Given the description of an element on the screen output the (x, y) to click on. 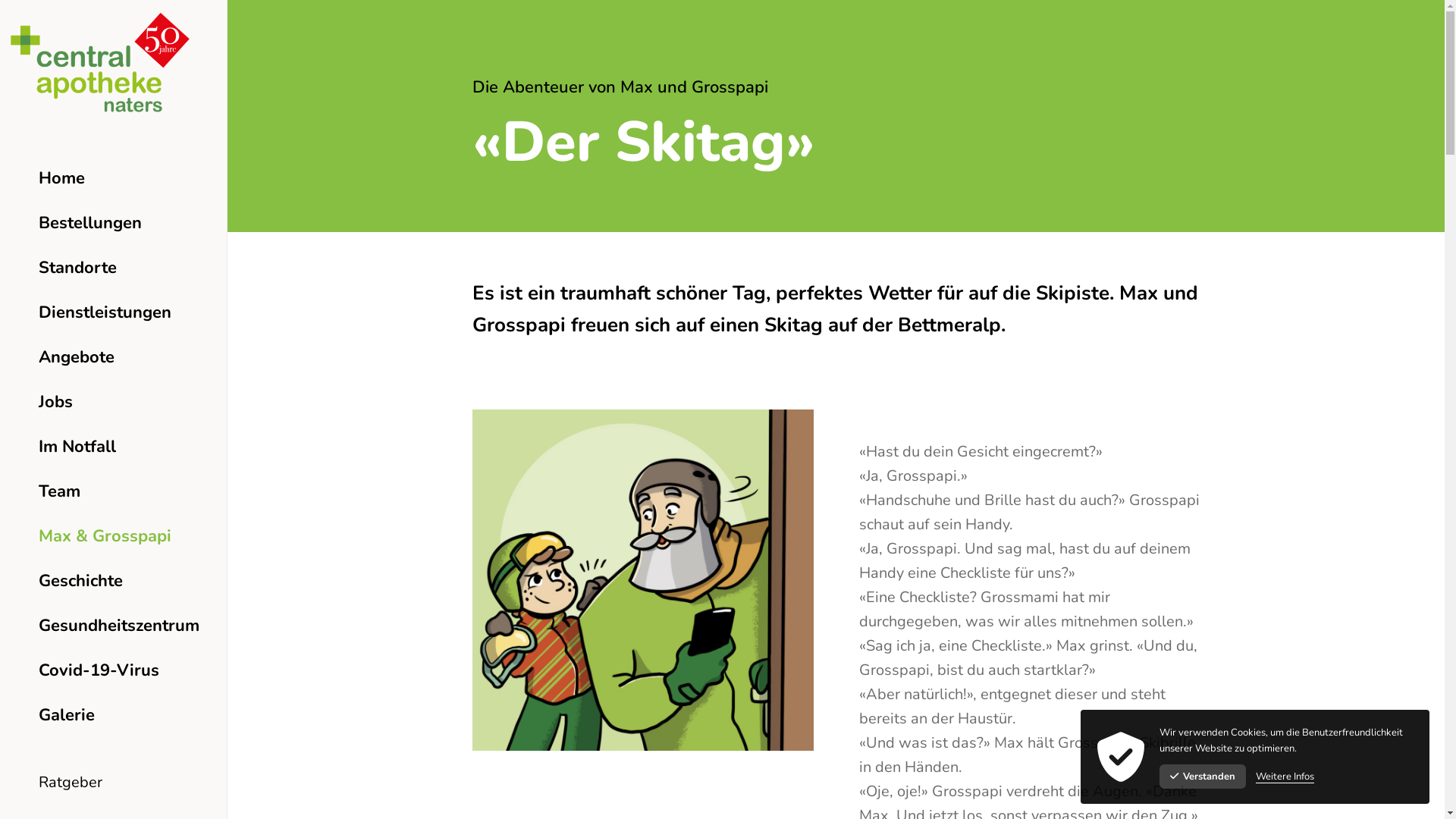
Bestellungen Element type: text (113, 222)
Galerie Element type: text (113, 713)
Geschichte Element type: text (113, 580)
Jobs Element type: text (113, 401)
Im Notfall Element type: text (113, 445)
Team Element type: text (113, 490)
Weitere Infos Element type: text (1284, 776)
Max & Grosspapi Element type: text (113, 534)
Angebote Element type: text (113, 355)
Home Element type: text (113, 176)
Standorte Element type: text (113, 266)
Gesundheitszentrum Element type: text (113, 624)
Ratgeber Element type: text (113, 781)
Covid-19-Virus Element type: text (113, 669)
Dienstleistungen Element type: text (113, 311)
Verstanden Element type: text (1202, 776)
